Given the description of an element on the screen output the (x, y) to click on. 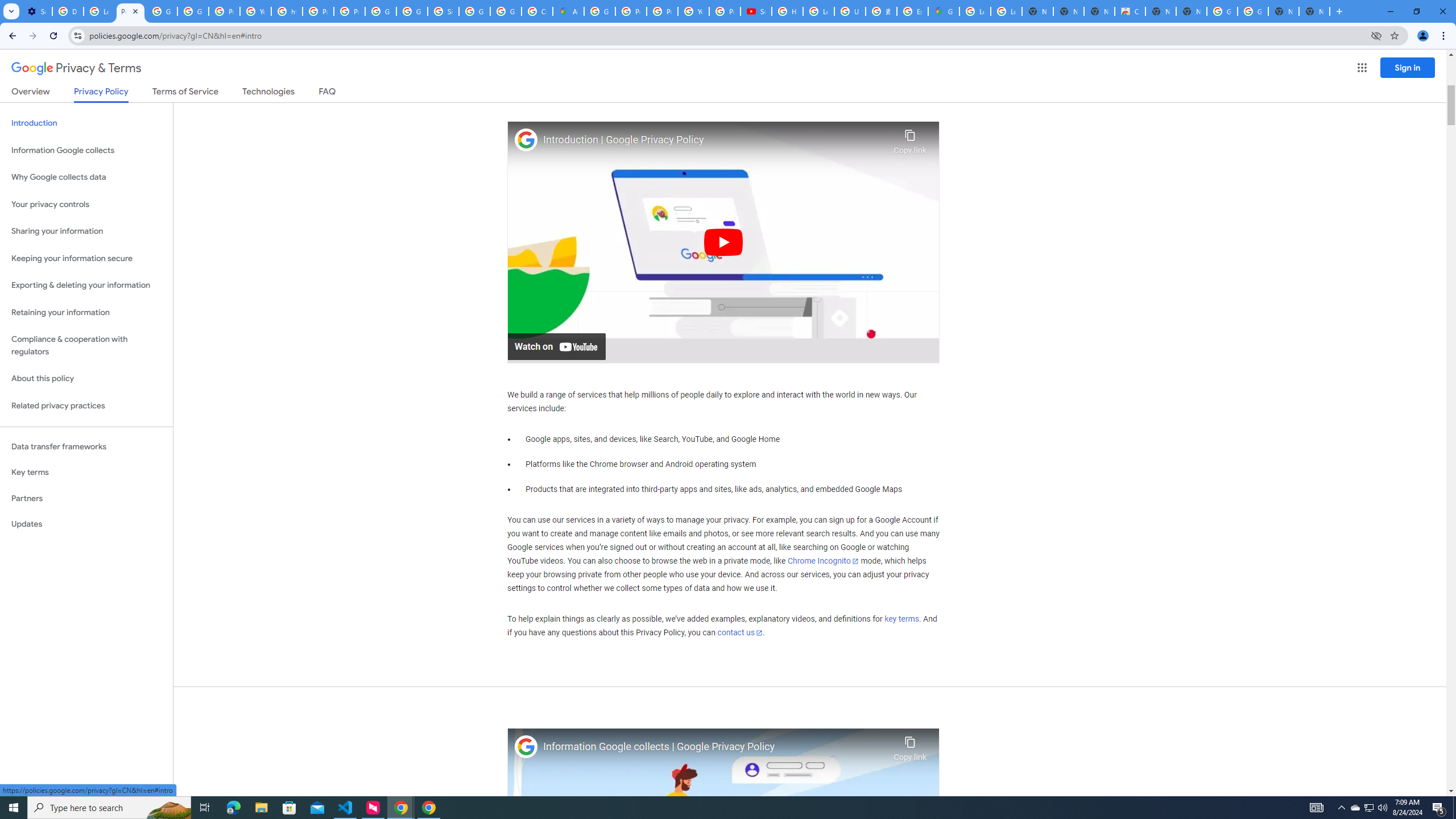
Google Maps (943, 11)
Subscriptions - YouTube (756, 11)
Google Images (1252, 11)
Partners (86, 497)
Third-party cookies blocked (1376, 35)
Compliance & cooperation with regulators (86, 345)
Information Google collects | Google Privacy Policy (715, 747)
About this policy (86, 379)
New Tab (1314, 11)
Create your Google Account (536, 11)
https://scholar.google.com/ (286, 11)
Privacy & Terms (76, 68)
